Given the description of an element on the screen output the (x, y) to click on. 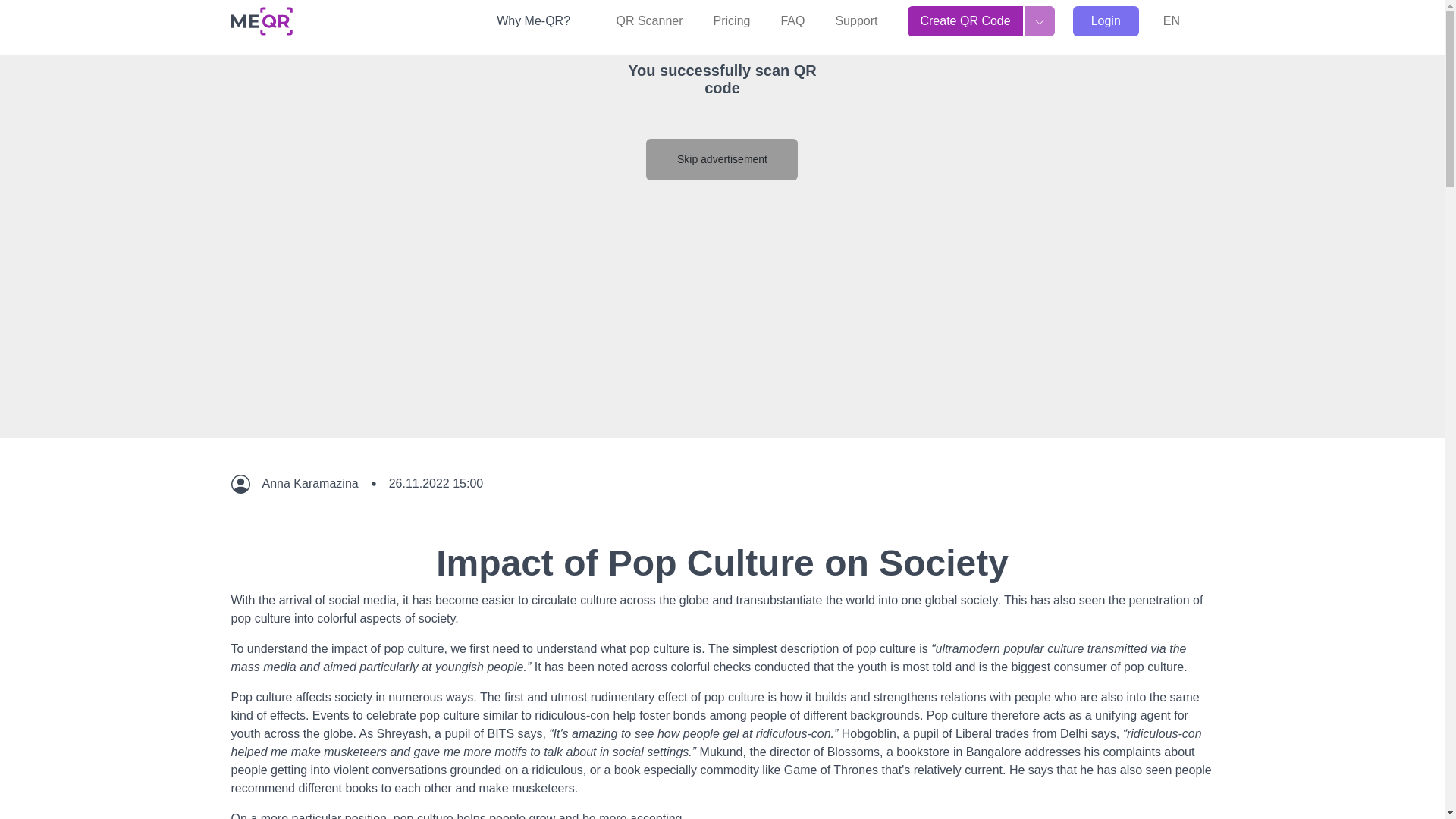
Pricing (732, 20)
Why Me-QR? (540, 20)
Create QR Code (964, 20)
Login (1105, 20)
QR Scanner (649, 20)
EN (1179, 20)
FAQ (792, 20)
Support (855, 20)
